Given the description of an element on the screen output the (x, y) to click on. 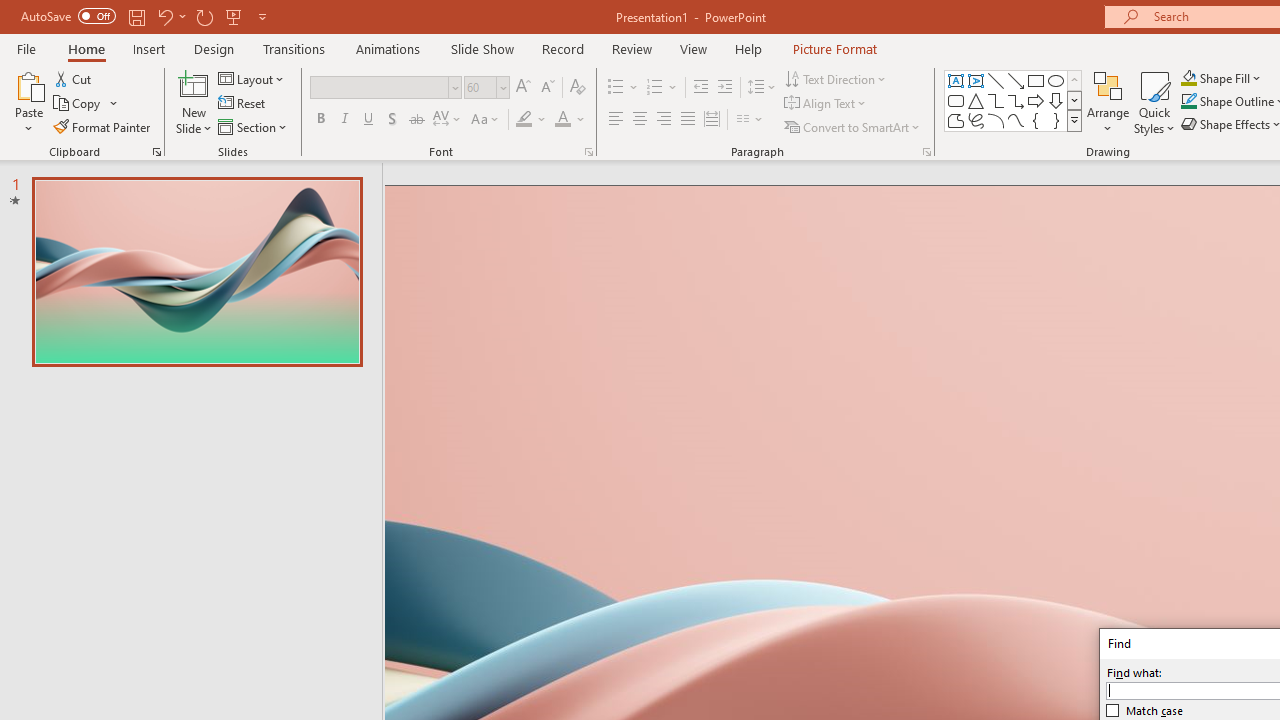
Align Left (616, 119)
Clear Formatting (577, 87)
Office Clipboard... (156, 151)
Section (254, 126)
Layout (252, 78)
Change Case (486, 119)
